Given the description of an element on the screen output the (x, y) to click on. 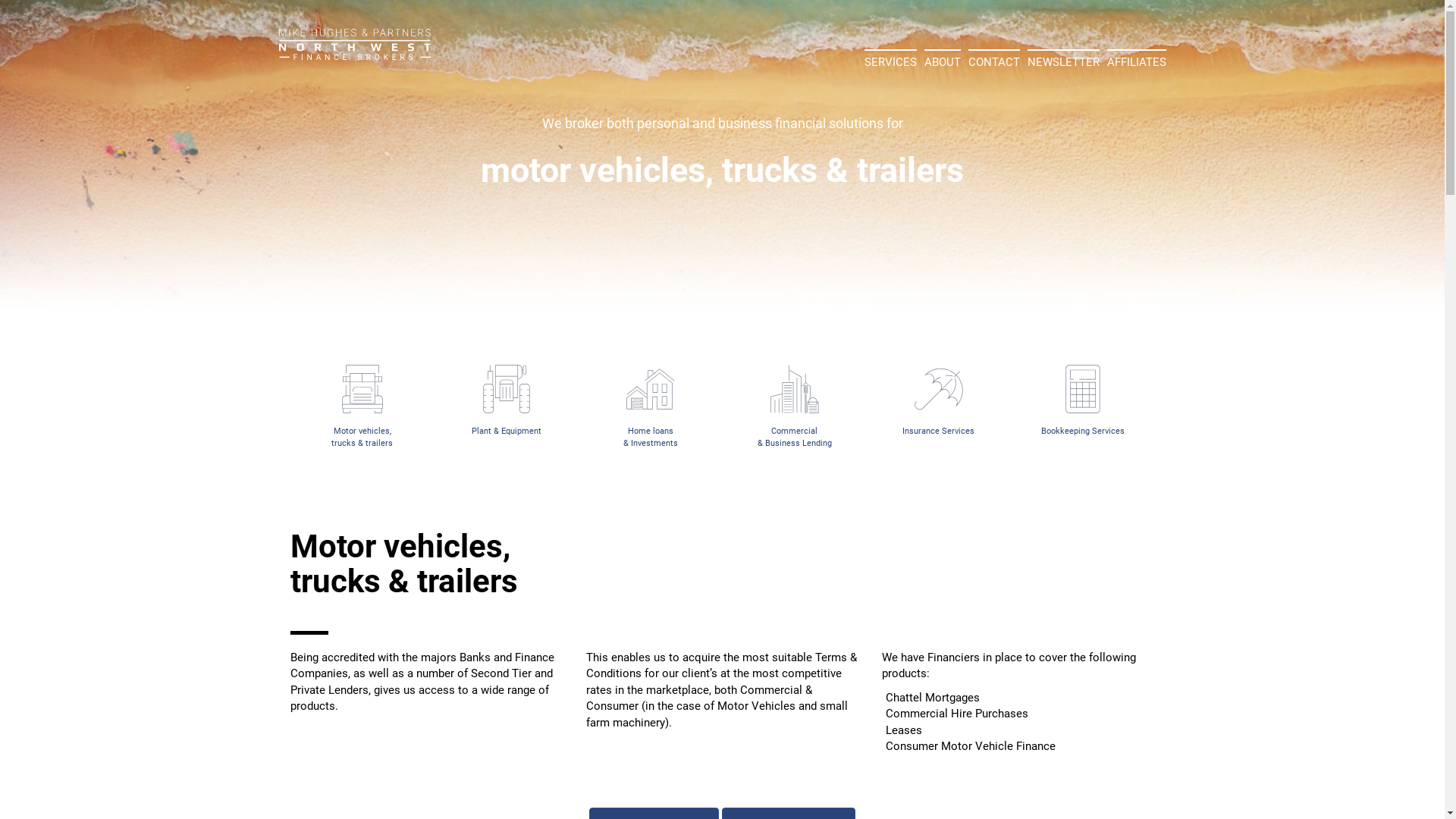
SERVICES Element type: text (890, 61)
AFFILIATES Element type: text (1136, 61)
NEWSLETTER Element type: text (1062, 61)
Bookkeeping Services Element type: text (1082, 400)
ABOUT Element type: text (941, 61)
CONTACT Element type: text (993, 61)
Plant & Equipment Element type: text (506, 400)
Home loans
& Investments Element type: text (650, 406)
Insurance Services Element type: text (938, 400)
Motor vehicles,
trucks & trailers Element type: text (362, 406)
Commercial
& Business Lending Element type: text (794, 406)
